Given the description of an element on the screen output the (x, y) to click on. 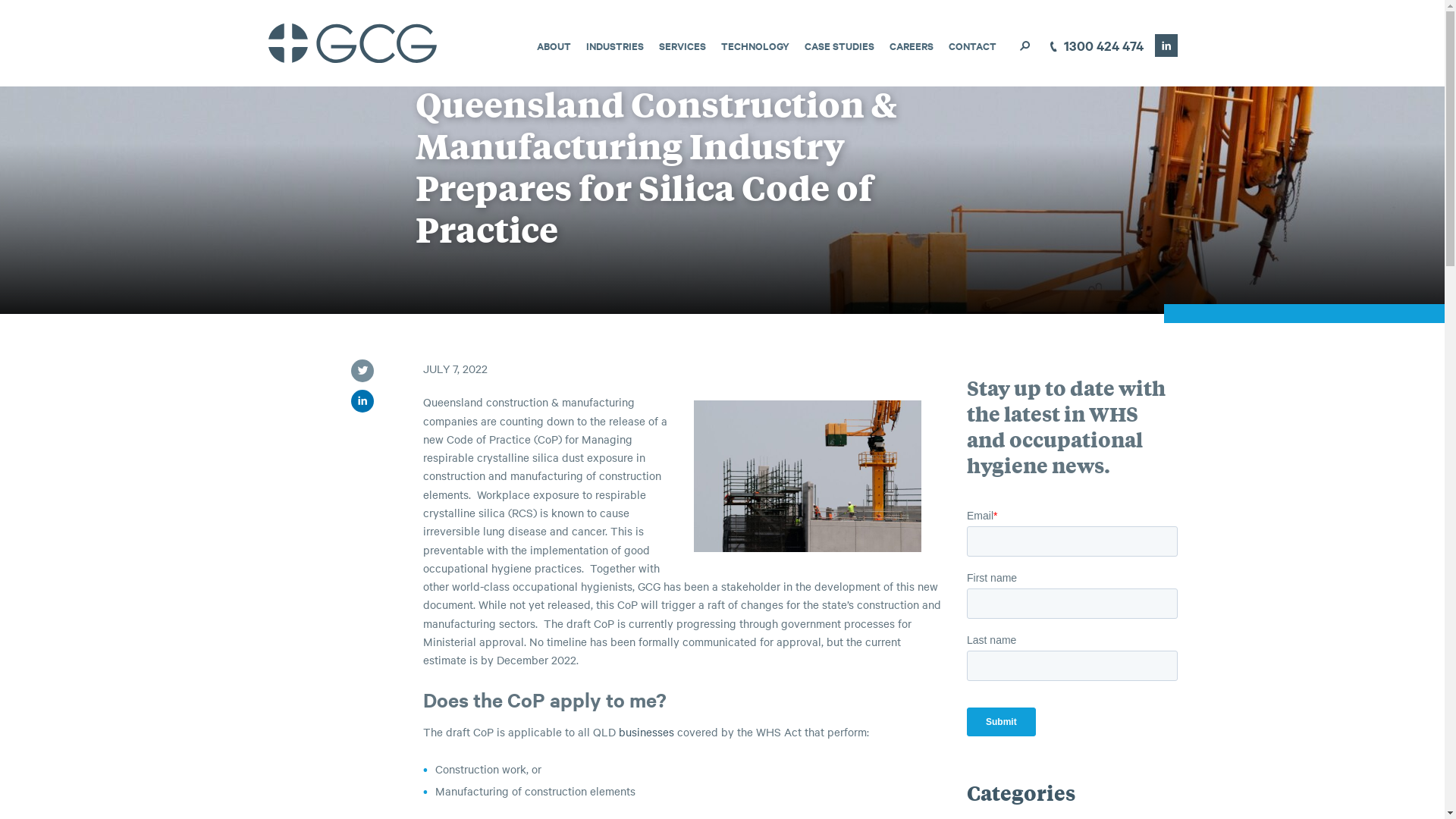
CONTACT Element type: text (971, 45)
Twitter Element type: text (361, 370)
SERVICES Element type: text (681, 45)
ABOUT Element type: text (553, 45)
businesses Element type: text (646, 730)
LinkedIn Element type: text (1165, 45)
1300 424 474 Element type: text (1093, 45)
TECHNOLOGY Element type: text (754, 45)
CASE STUDIES Element type: text (838, 45)
LinkedIn Element type: text (361, 400)
CAREERS Element type: text (910, 45)
INDUSTRIES Element type: text (614, 45)
GCG Element type: text (351, 42)
Form 0 Element type: hover (1071, 628)
